Given the description of an element on the screen output the (x, y) to click on. 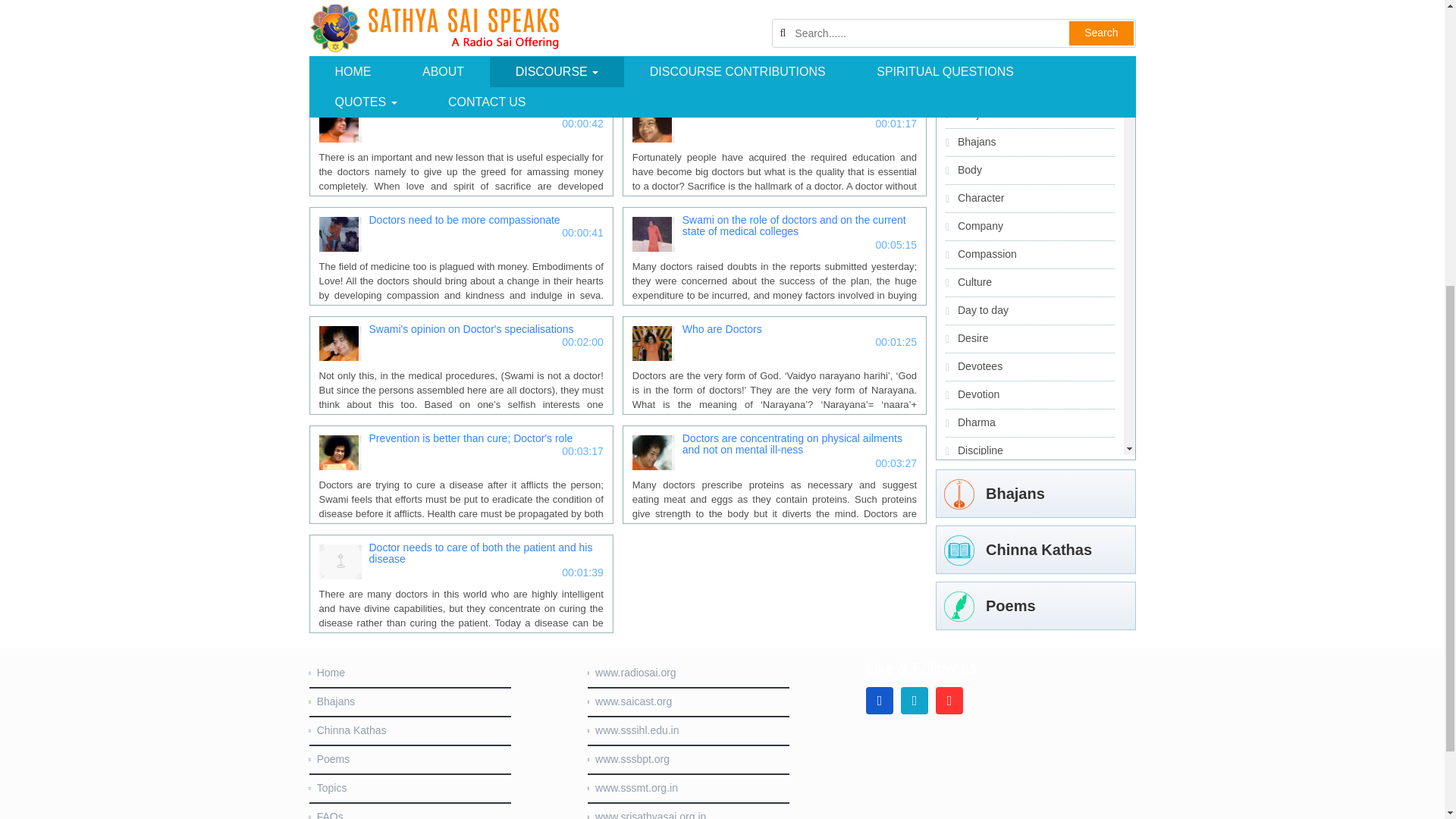
Sacrifice is the hallmark of a true doctor (774, 112)
Doctors are verily God (460, 4)
Doctors must foster love and sacrifice (460, 112)
